Given the description of an element on the screen output the (x, y) to click on. 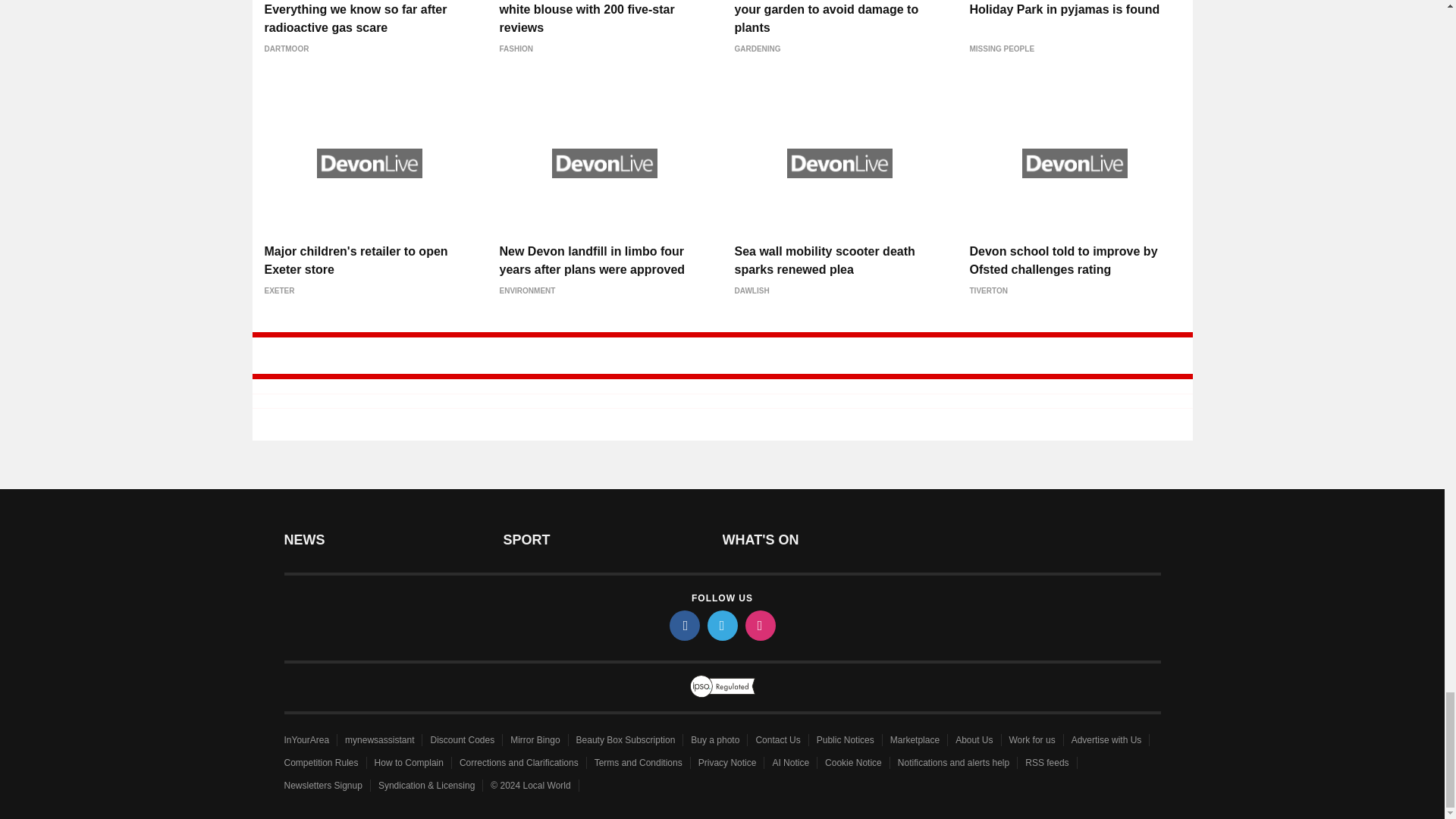
facebook (683, 625)
twitter (721, 625)
instagram (759, 625)
